Given the description of an element on the screen output the (x, y) to click on. 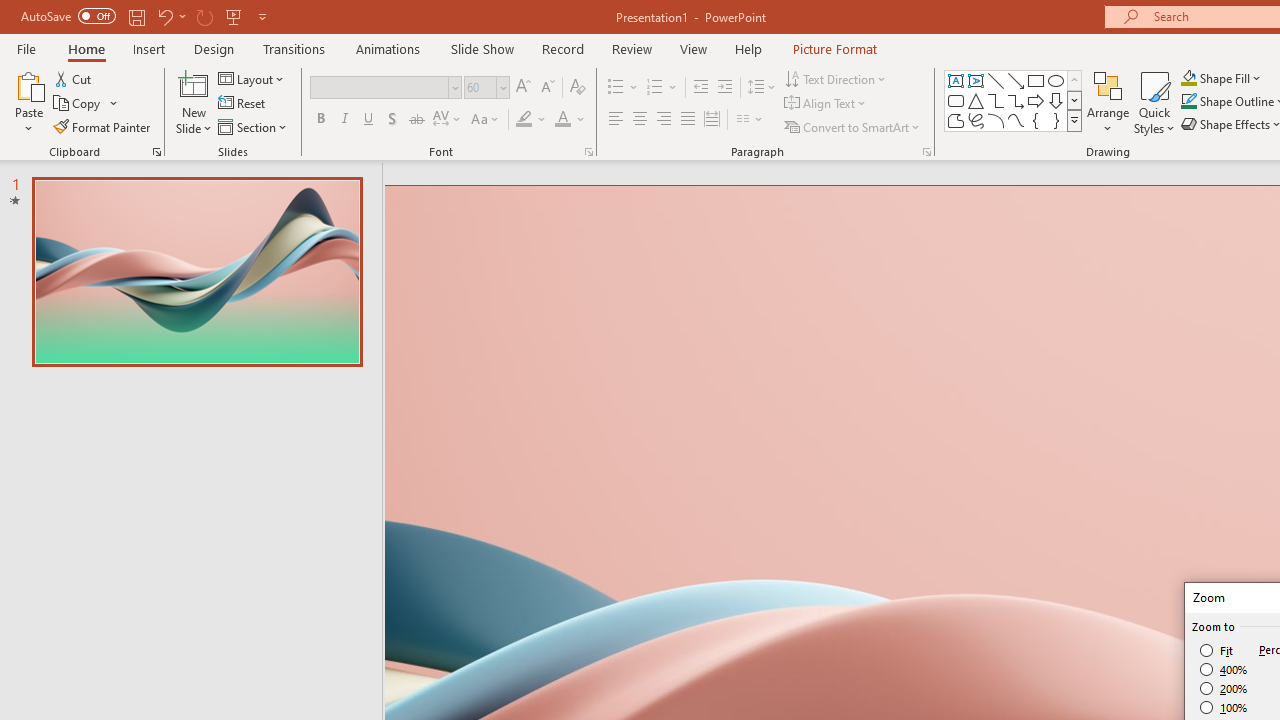
100% (1224, 707)
